Given the description of an element on the screen output the (x, y) to click on. 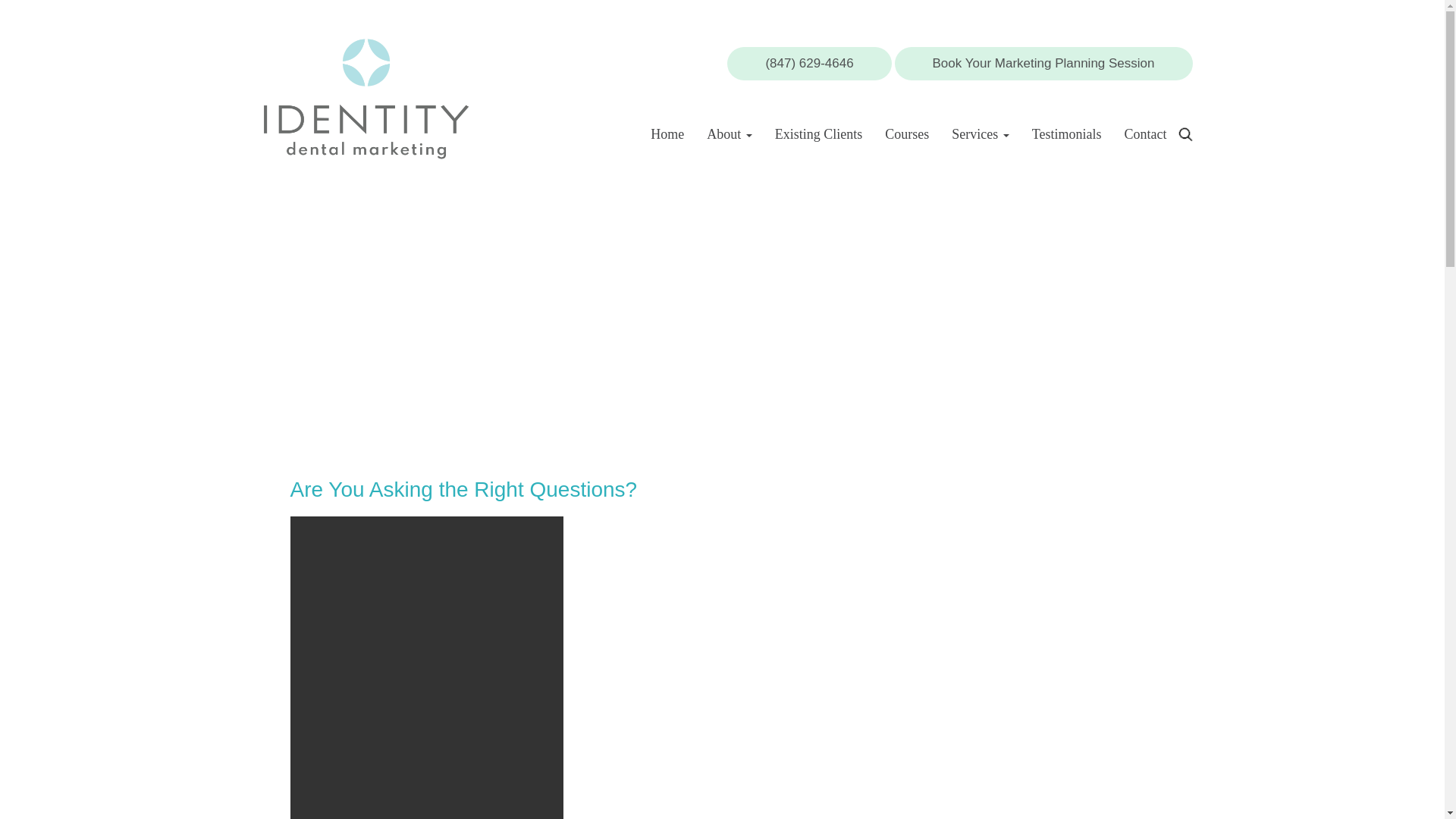
Dental Marketing (365, 97)
Home (667, 133)
About (729, 133)
Book Your Marketing Planning Session (1043, 63)
